Given the description of an element on the screen output the (x, y) to click on. 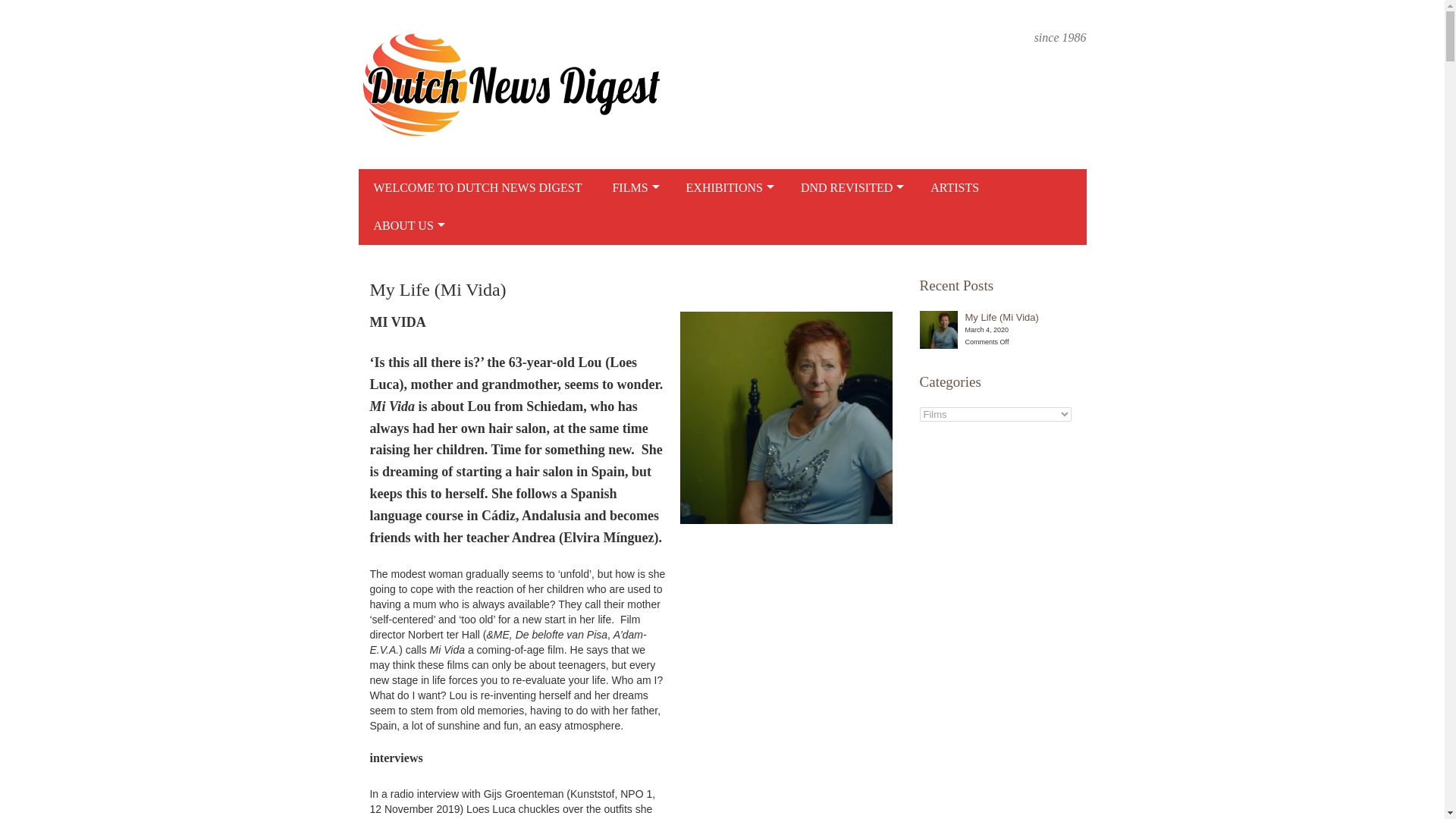
ARTISTS (954, 187)
EXHIBITIONS (728, 187)
ABOUT US (406, 225)
DND REVISITED (850, 187)
FILMS (632, 187)
WELCOME TO DUTCH NEWS DIGEST (477, 187)
